Given the description of an element on the screen output the (x, y) to click on. 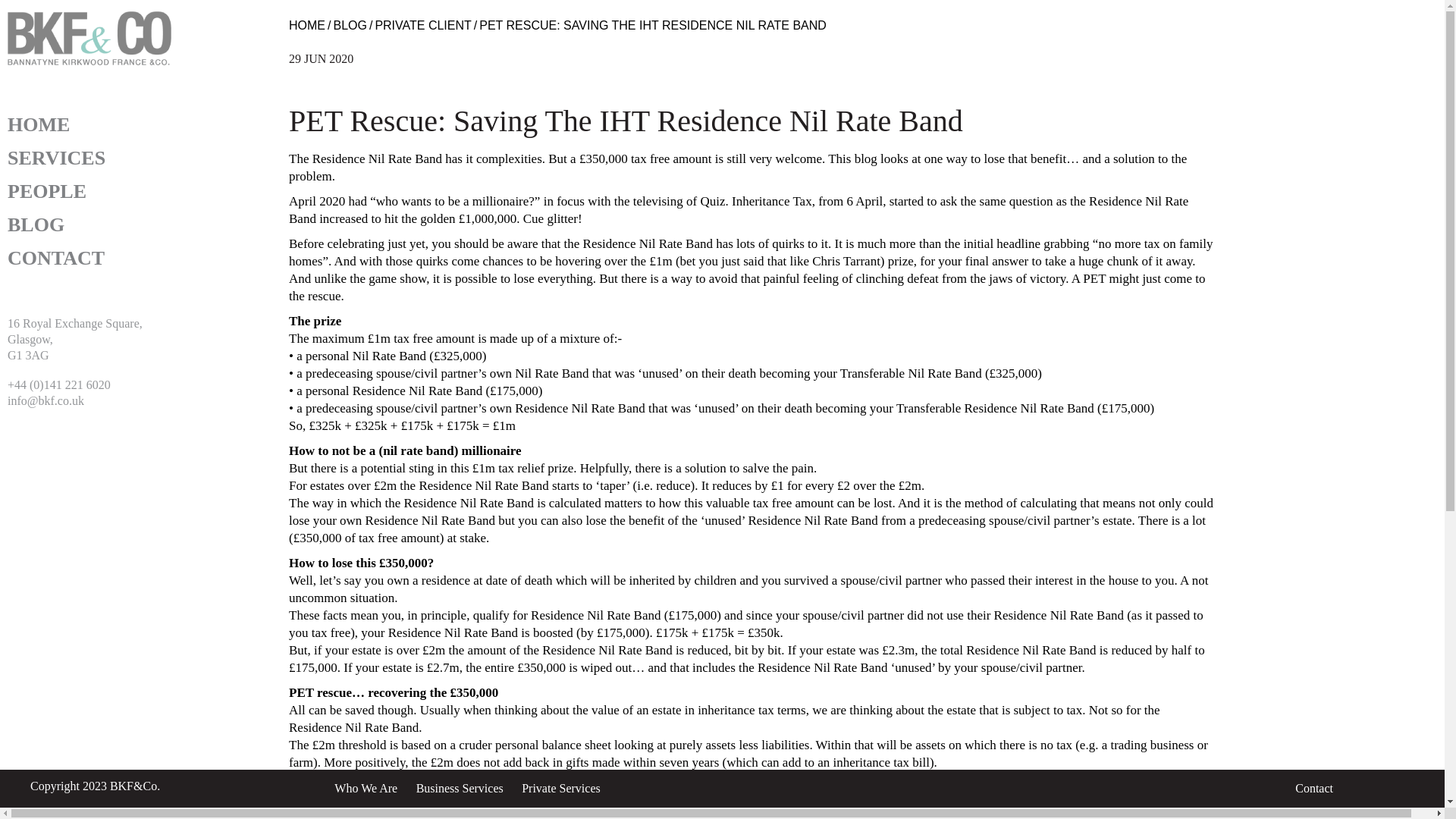
CONTACT (55, 258)
Go to blog. (349, 24)
Go to the Private client blog categories archives. (422, 24)
BLOG (35, 224)
Contact (1314, 788)
SERVICES (55, 157)
Go to PET rescue: saving the IHT Residence Nil Rate Band. (653, 24)
PEOPLE (46, 191)
Private Services (560, 788)
Who We Are (365, 788)
HOME (306, 24)
PRIVATE CLIENT (422, 24)
PET RESCUE: SAVING THE IHT RESIDENCE NIL RATE BAND (653, 24)
HOME (38, 124)
Business Services (459, 788)
